Given the description of an element on the screen output the (x, y) to click on. 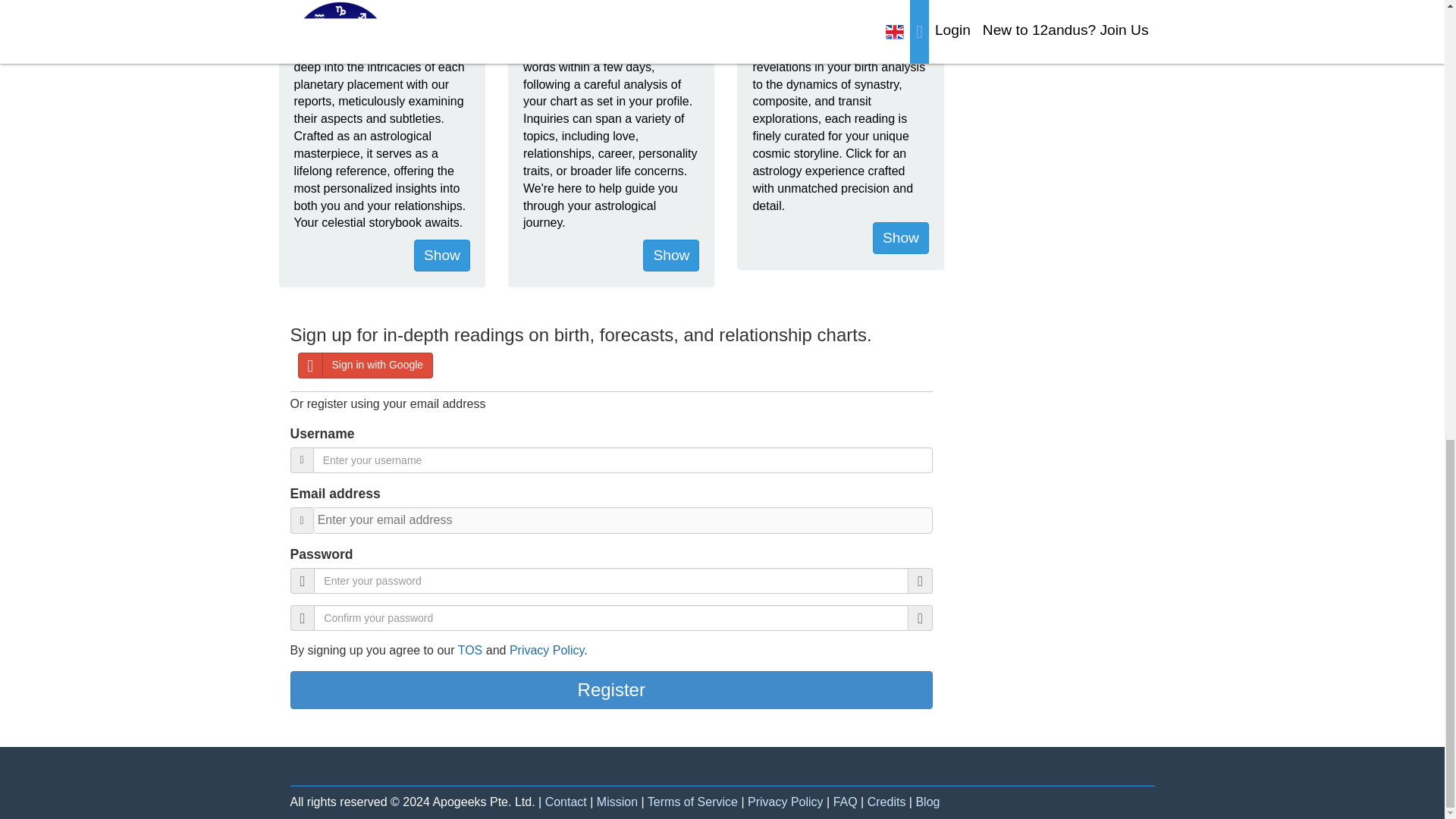
Register (611, 689)
